Given the description of an element on the screen output the (x, y) to click on. 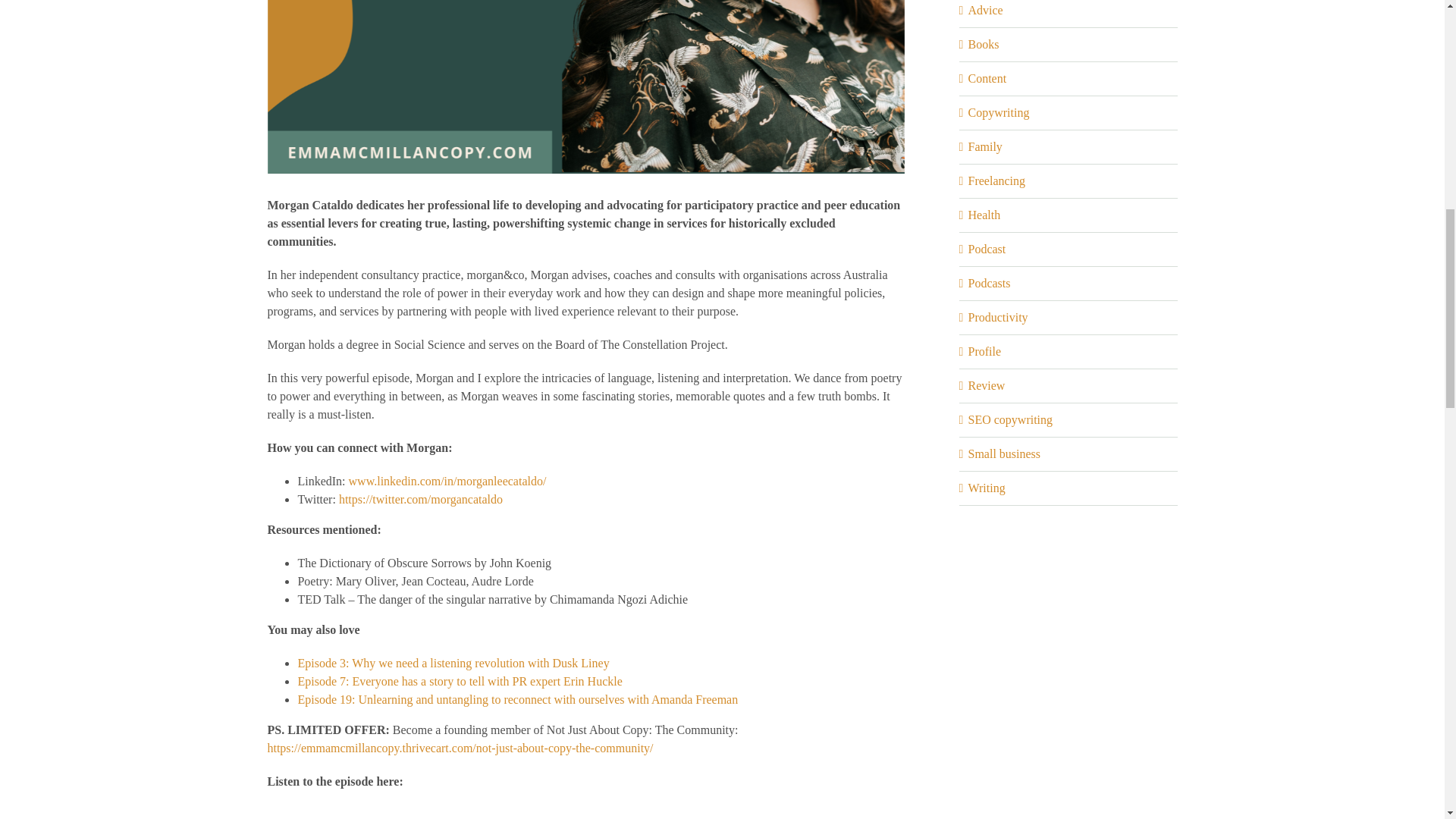
View Larger Image (585, 86)
